Given the description of an element on the screen output the (x, y) to click on. 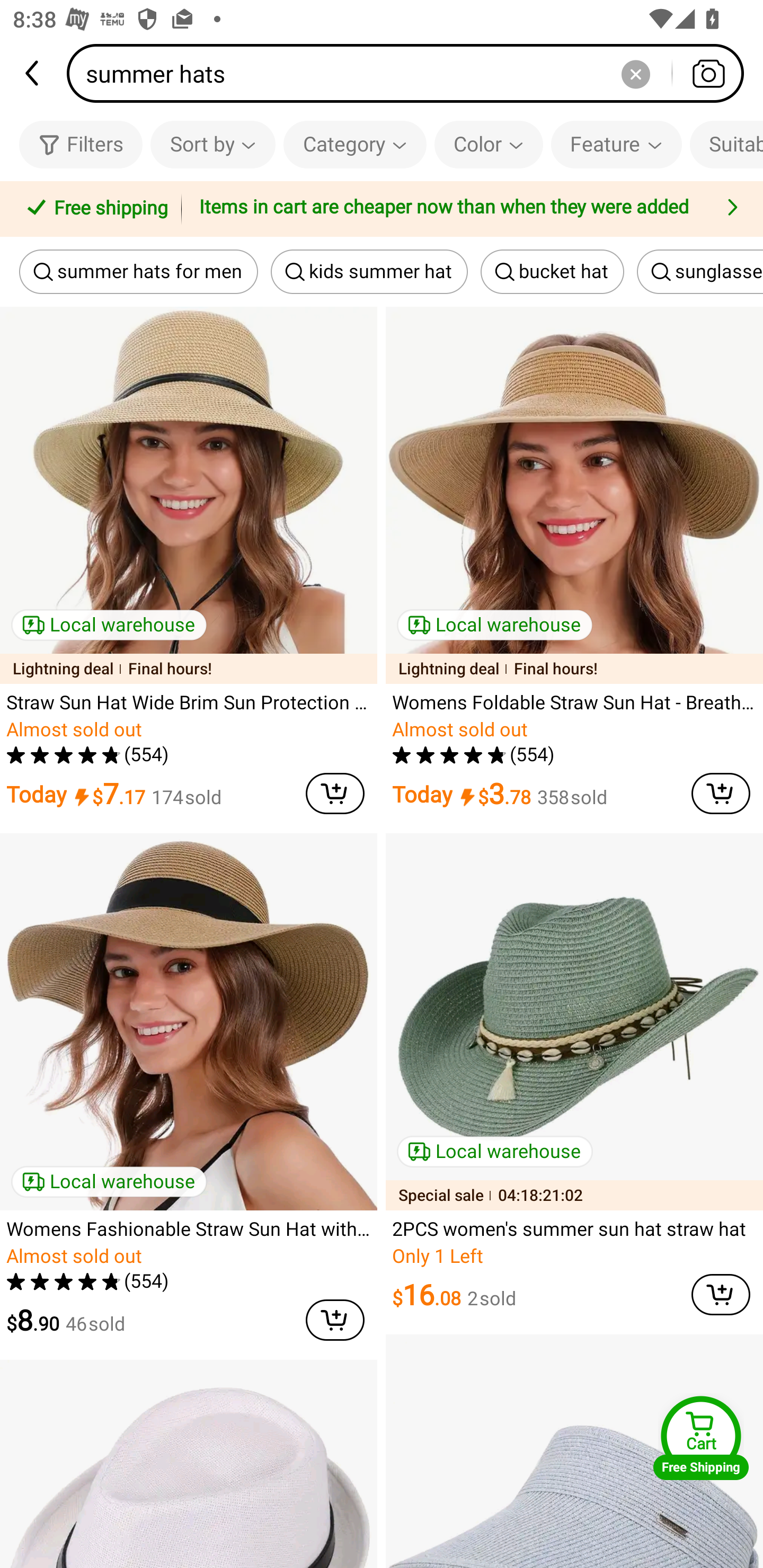
back (33, 72)
summer hats (411, 73)
Delete search history (635, 73)
Search by photo (708, 73)
Filters (80, 143)
Sort by (212, 143)
Category (354, 143)
Color (488, 143)
Feature (616, 143)
Suitable types (726, 143)
 Free shipping (93, 208)
summer hats for men (138, 271)
kids summer hat (368, 271)
bucket hat (552, 271)
sunglasses (700, 271)
Cart Free Shipping Cart (701, 1437)
